Given the description of an element on the screen output the (x, y) to click on. 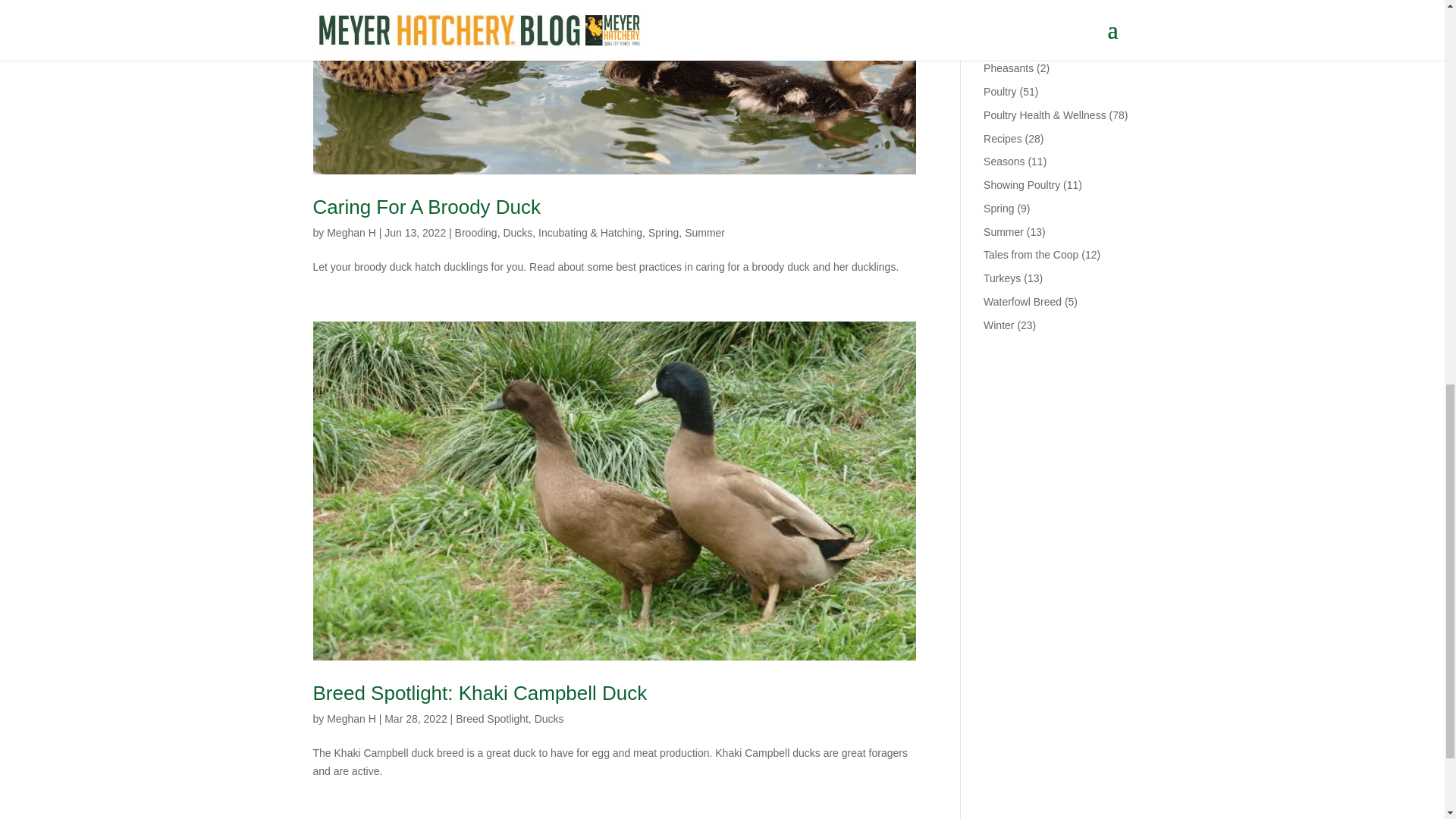
Caring For A Broody Duck (426, 206)
Meghan H (350, 232)
Posts by Meghan H (350, 718)
Posts by Meghan H (350, 232)
